Given the description of an element on the screen output the (x, y) to click on. 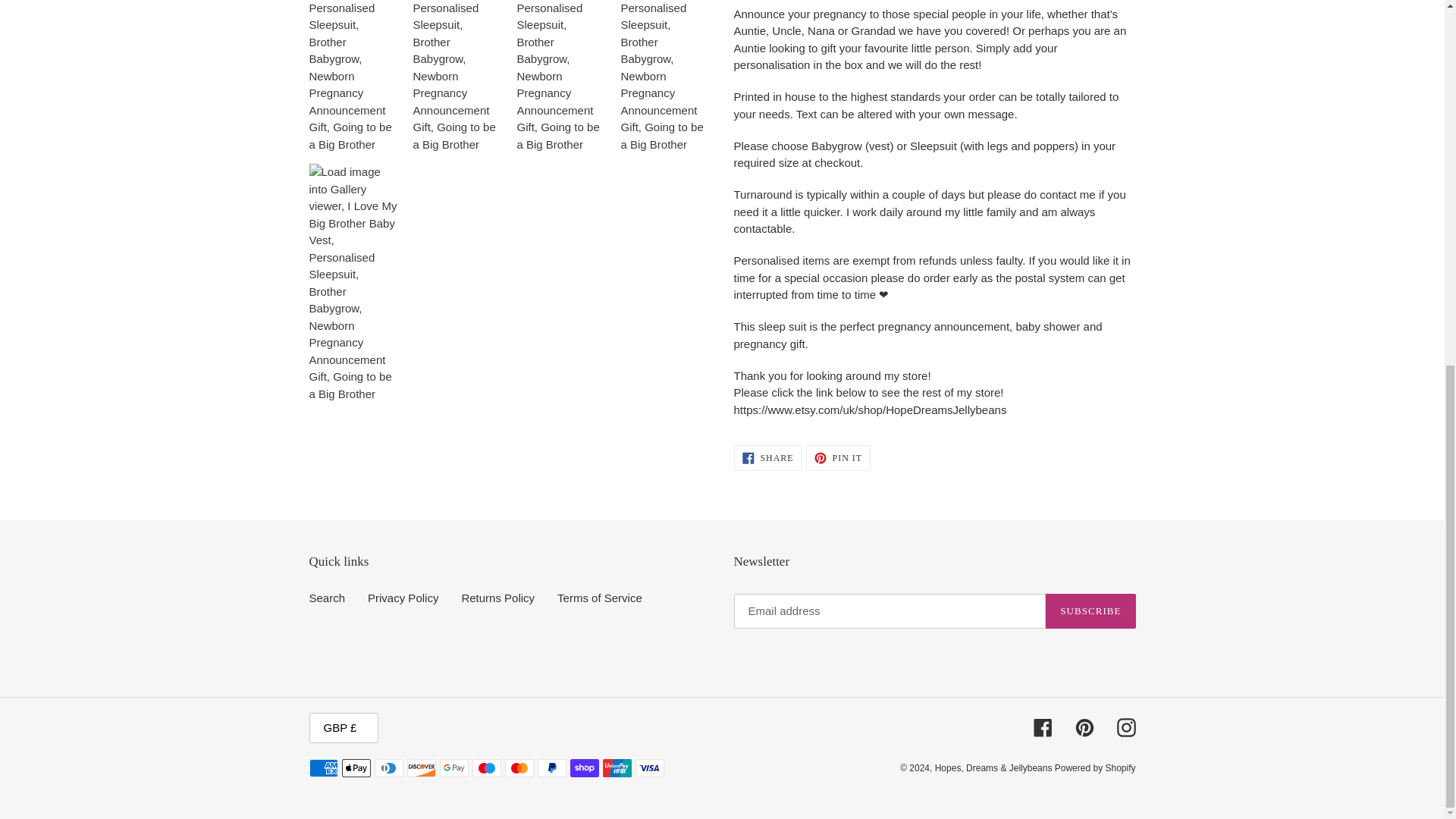
Privacy Policy (403, 597)
Search (327, 597)
Terms of Service (767, 457)
Returns Policy (599, 597)
